Given the description of an element on the screen output the (x, y) to click on. 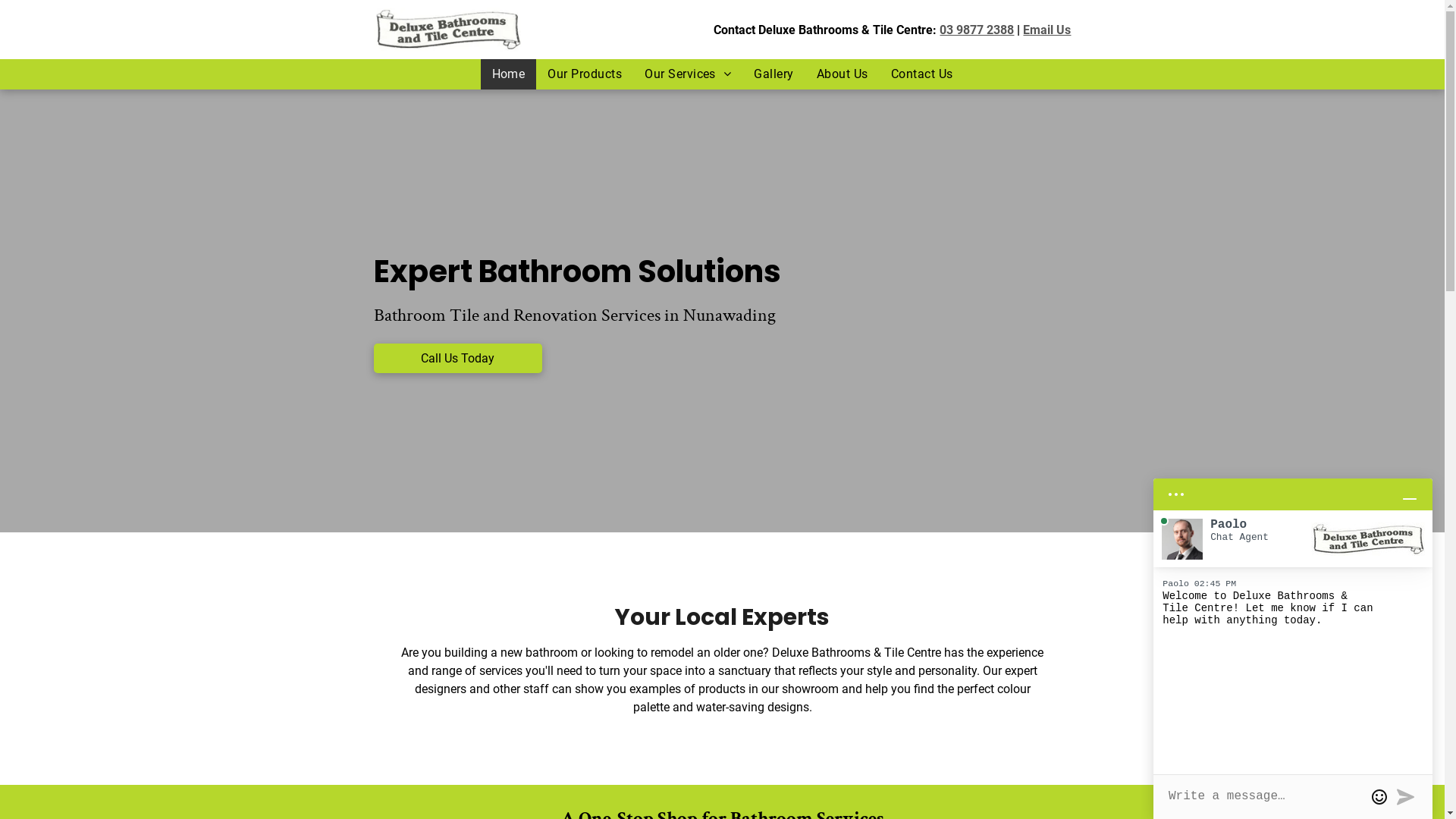
Contact Us Element type: text (921, 74)
Call Us Today Element type: text (457, 358)
Our Services Element type: text (687, 74)
Gallery Element type: text (773, 74)
03 9877 2388 Element type: text (976, 29)
Home Element type: text (508, 74)
Our Products Element type: text (584, 74)
About Us Element type: text (842, 74)
Email Us Element type: text (1046, 29)
